Given the description of an element on the screen output the (x, y) to click on. 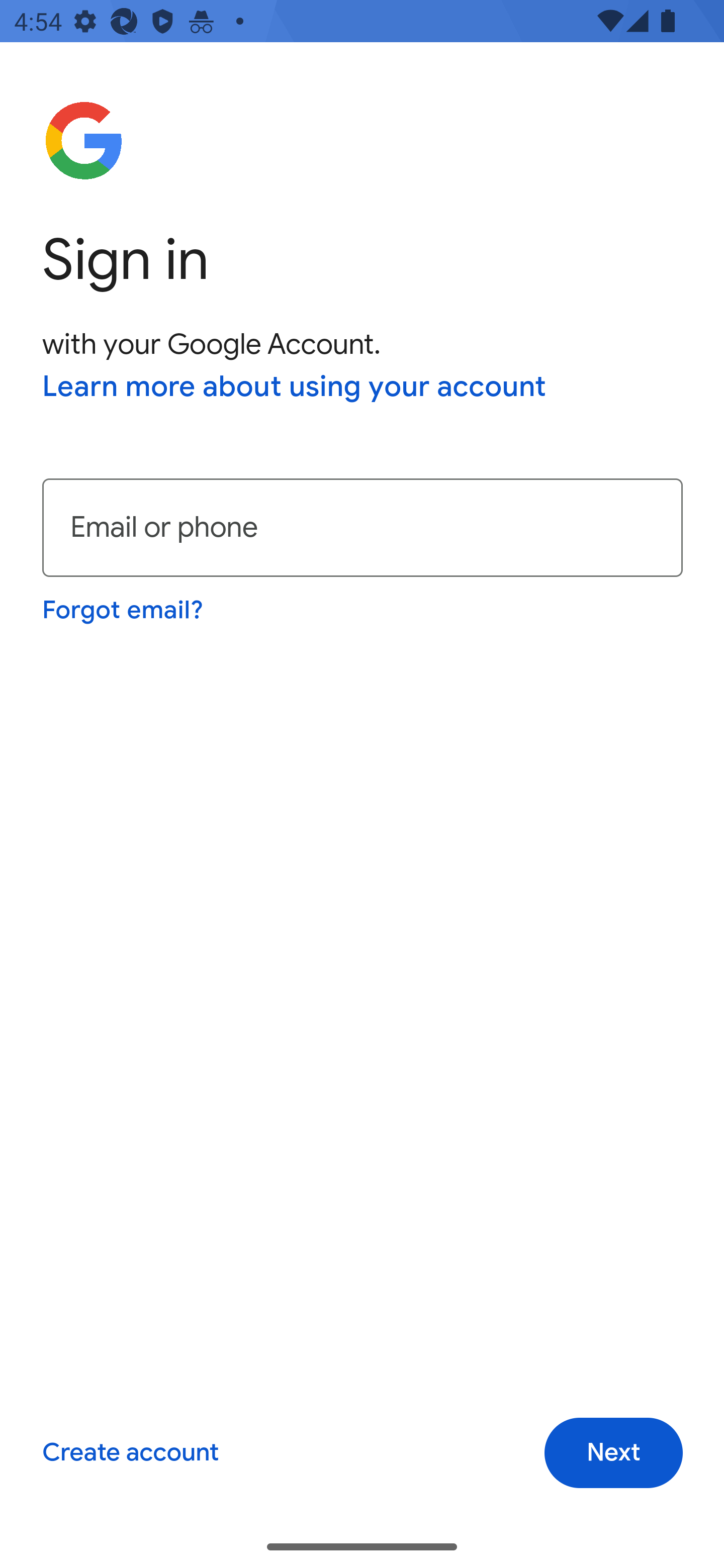
Learn more about using your account (294, 388)
Forgot email? (123, 609)
Next (613, 1453)
Create account (129, 1453)
